Given the description of an element on the screen output the (x, y) to click on. 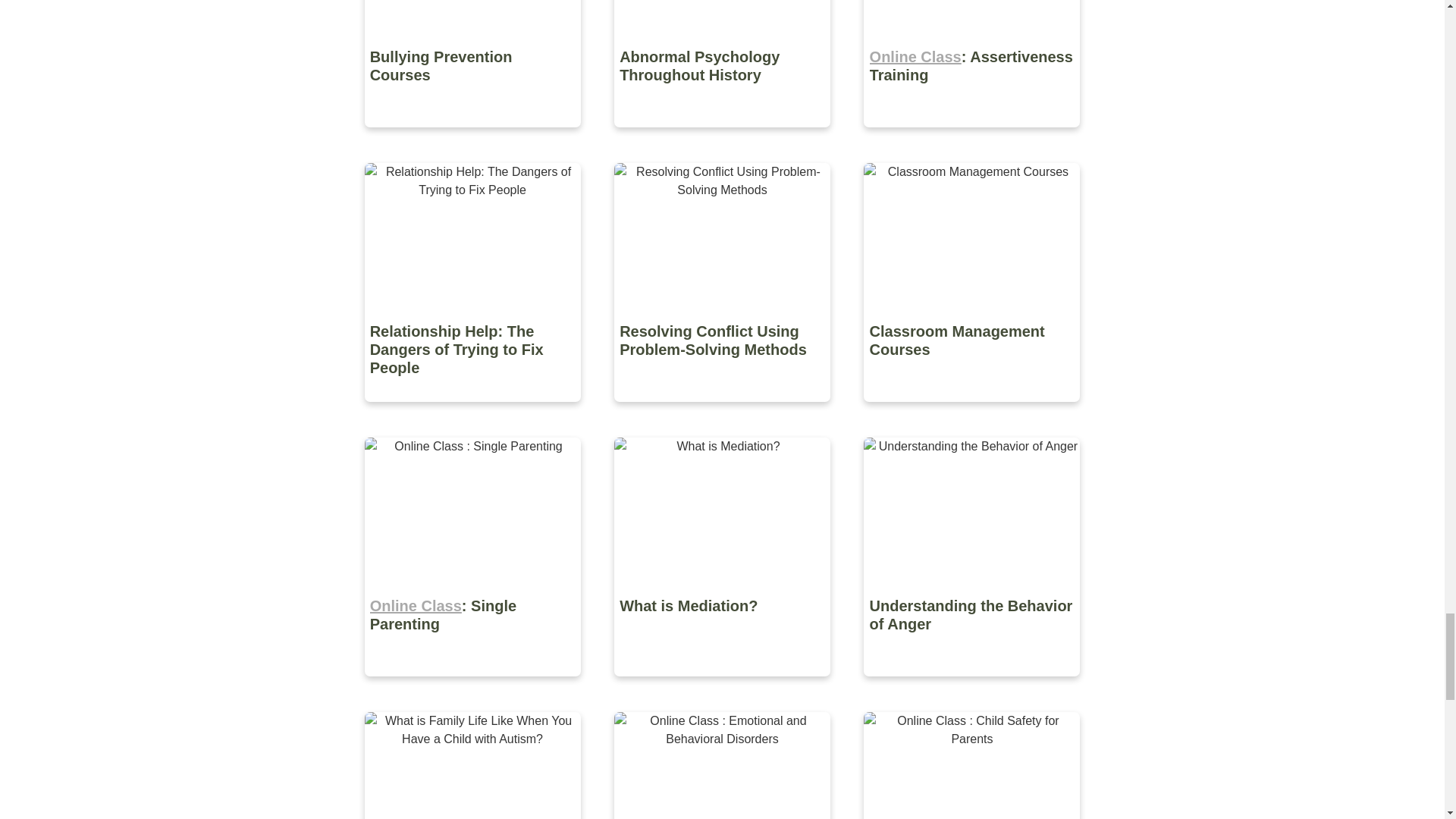
What is Mediation? (723, 686)
Online Class: Single Parenting (473, 686)
Understanding the Behavior of Anger (971, 686)
Relationship Help: The Dangers of Trying to Fix People (473, 412)
Classroom Management Courses (971, 412)
Abnormal Psychology Throughout History (723, 137)
Online Class: Assertiveness Training (971, 137)
Resolving Conflict Using Problem-Solving Methods (723, 412)
Bullying Prevention Courses (473, 137)
